Given the description of an element on the screen output the (x, y) to click on. 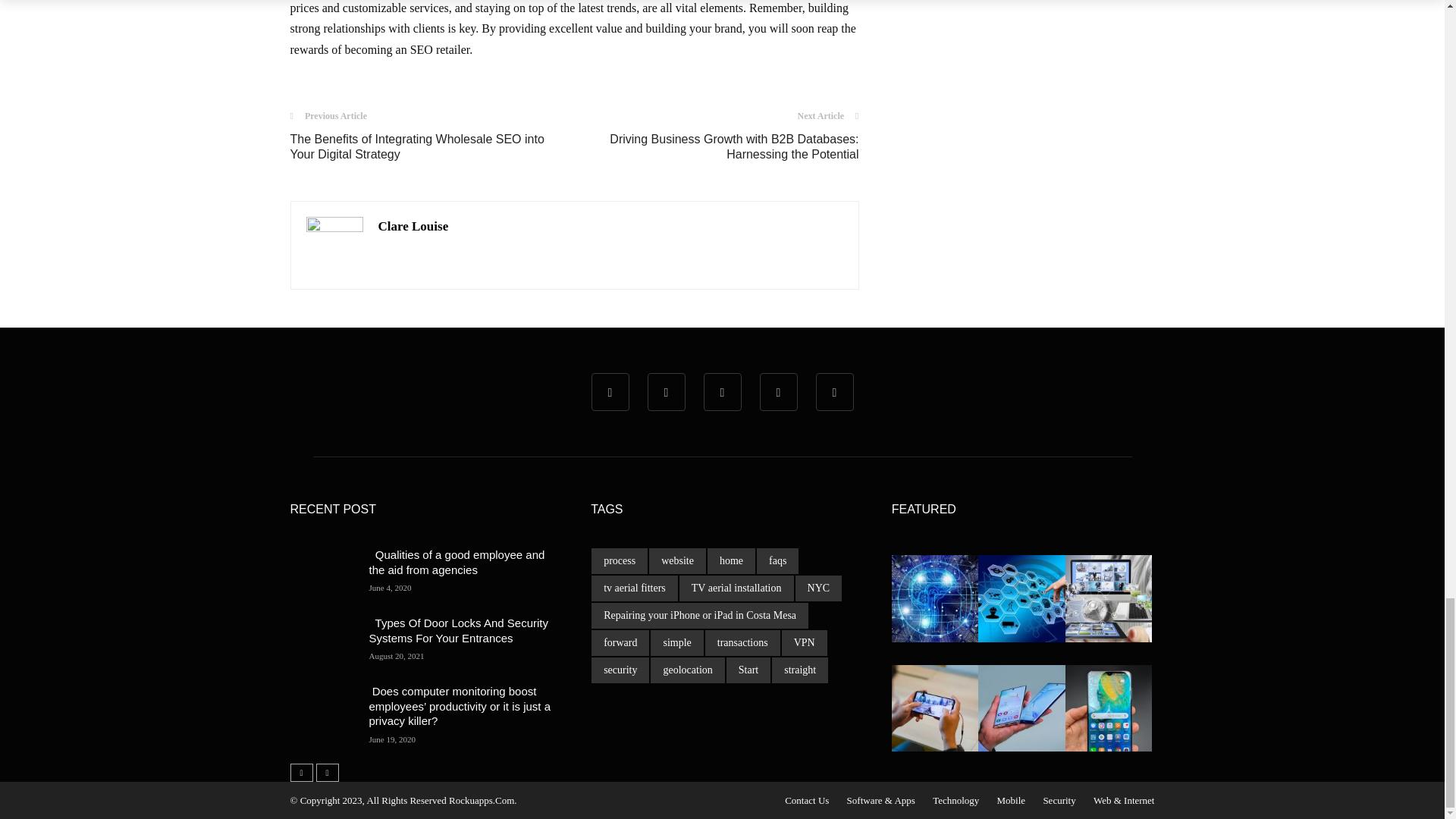
Next (326, 772)
Previous (301, 772)
